Given the description of an element on the screen output the (x, y) to click on. 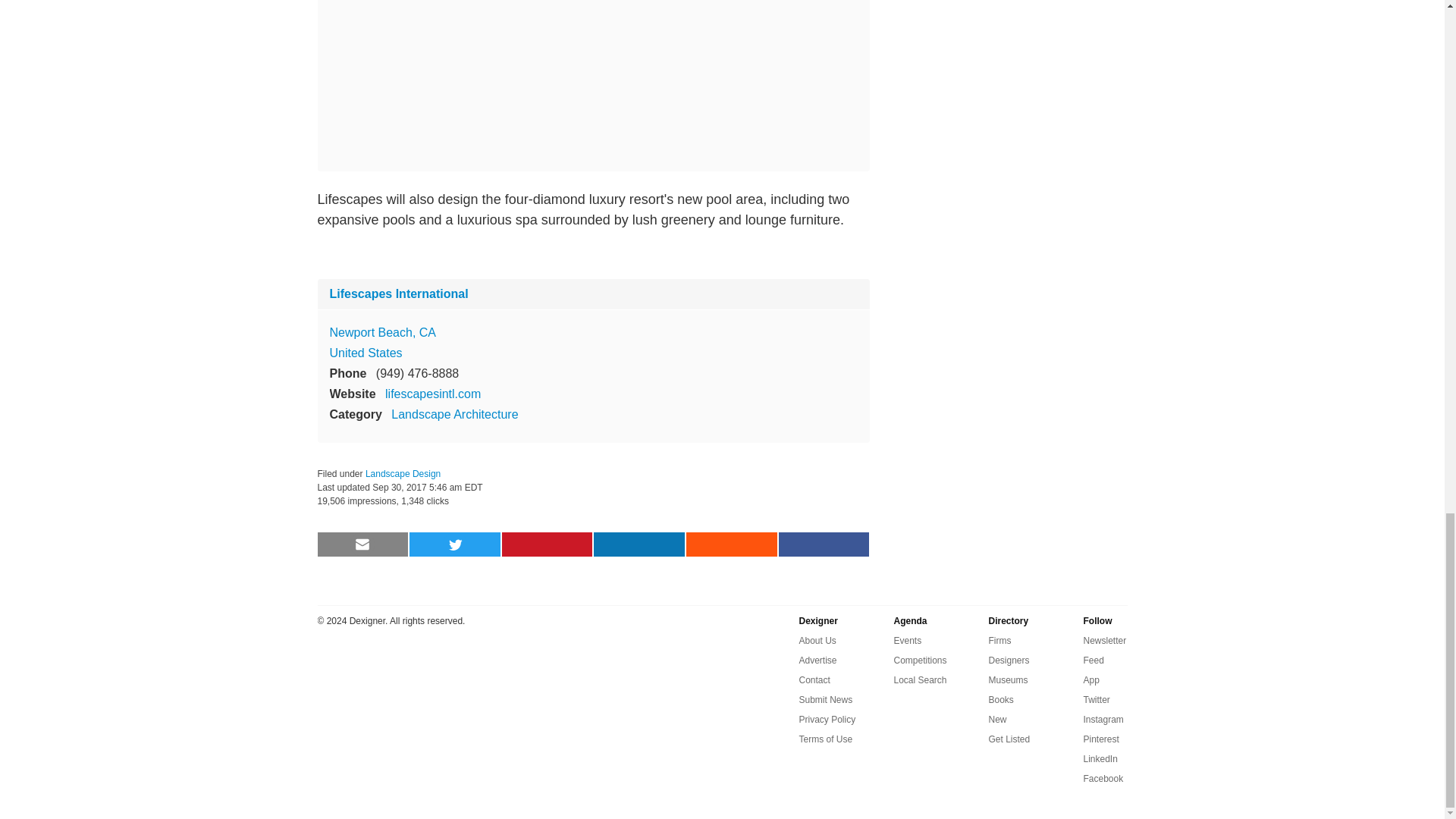
View on Map (382, 332)
lifescapesintl.com (432, 393)
About Us (817, 640)
New (997, 719)
Submit News (826, 700)
Lifescapes International (398, 293)
Designers (1008, 660)
Terms of Use (826, 739)
Museums (1007, 679)
Landscape Design (403, 473)
